Given the description of an element on the screen output the (x, y) to click on. 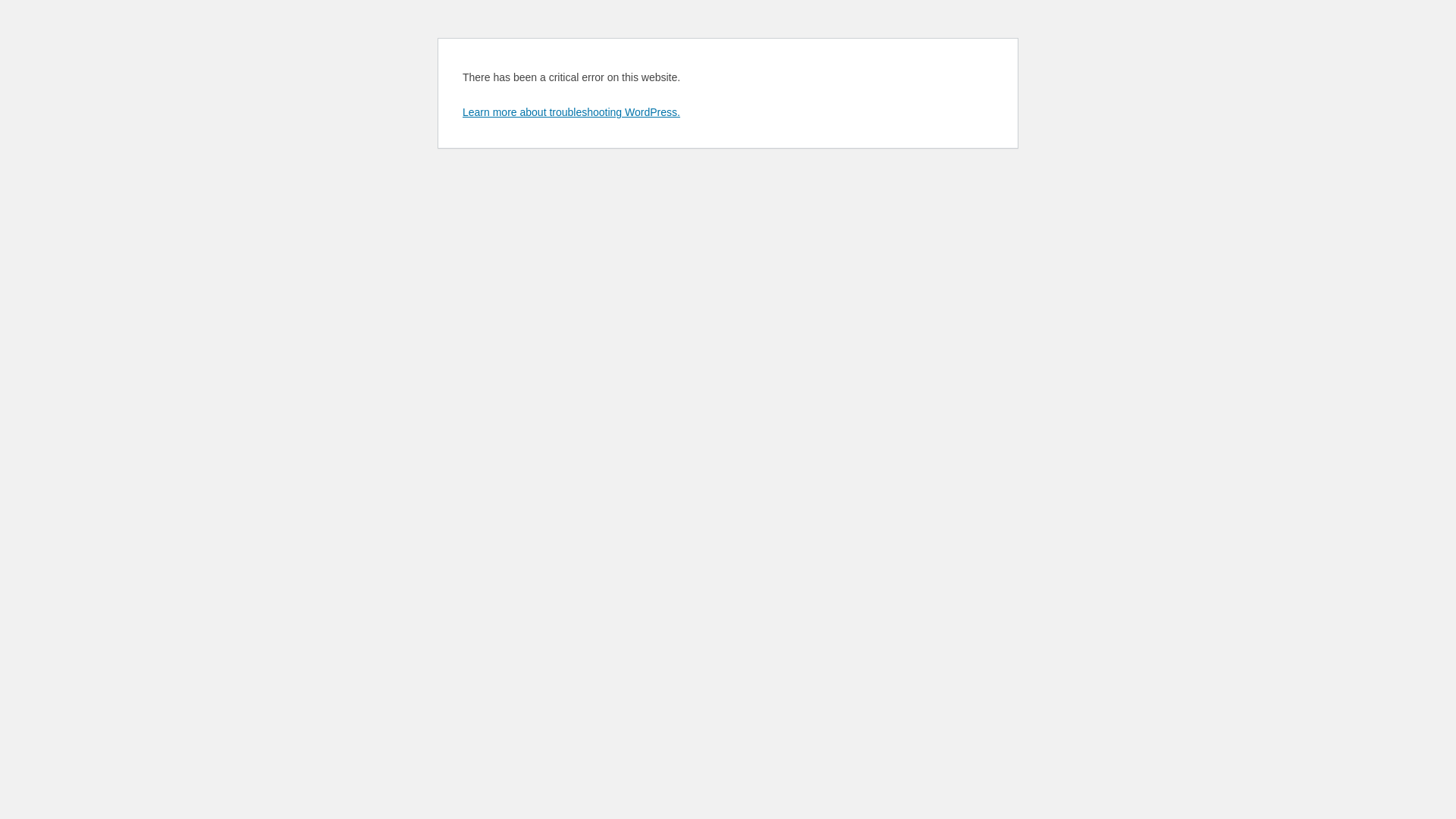
Learn more about troubleshooting WordPress. Element type: text (571, 112)
